Given the description of an element on the screen output the (x, y) to click on. 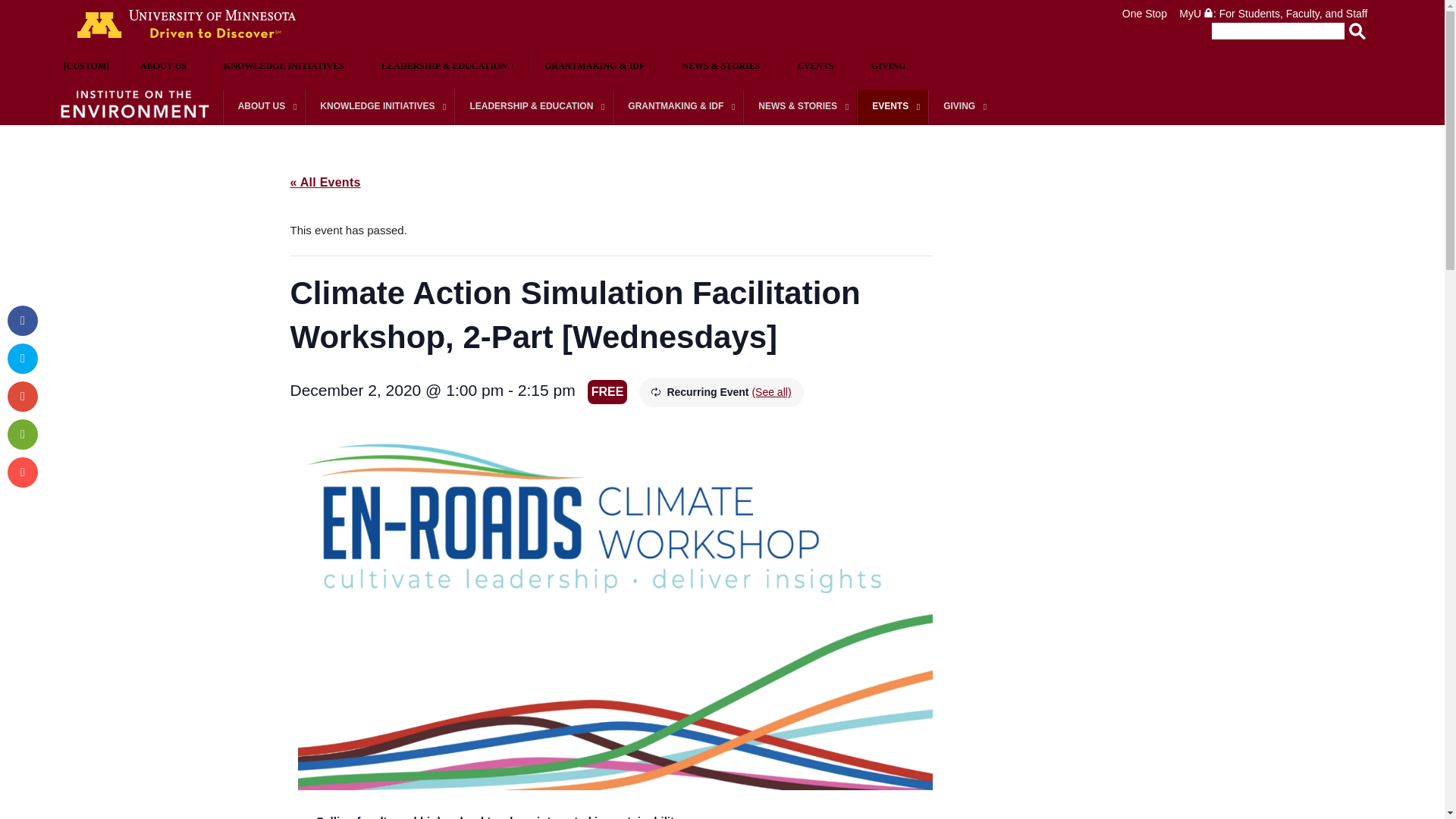
Search Websites and People (1272, 30)
MyU : For Students, Faculty, and Staff (1273, 13)
One Stop (1144, 13)
